Given the description of an element on the screen output the (x, y) to click on. 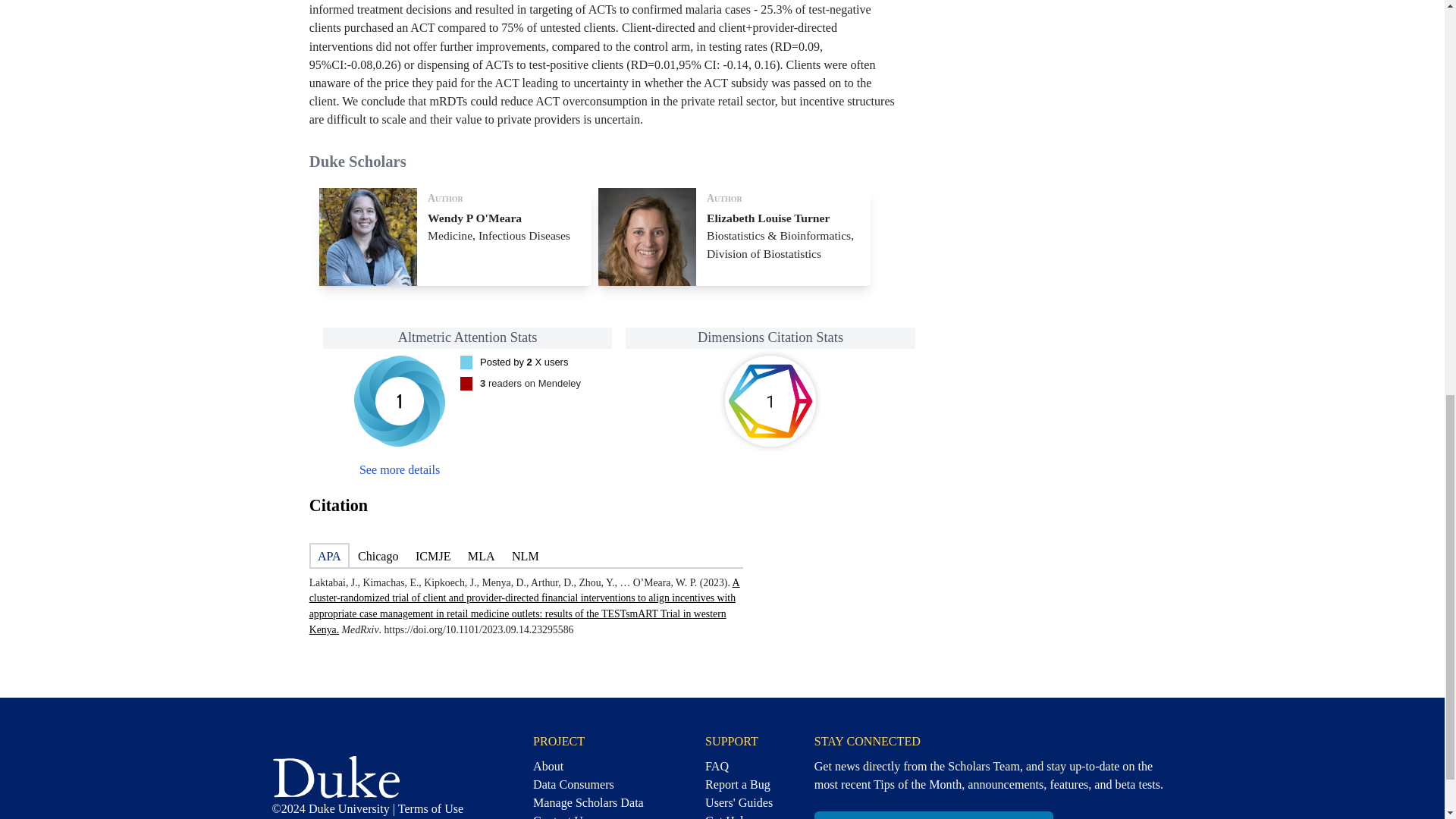
Get Help (738, 815)
Data Consumers (587, 784)
FAQ (738, 763)
About (587, 763)
Subscribe to Announcements (932, 815)
Posted by 2 X users (455, 236)
Users' Guides (523, 361)
Manage Scholars Data (738, 802)
Terms of Use (587, 802)
Report a Bug (430, 808)
1 (738, 784)
See more details (770, 400)
Contact Us (399, 469)
